Given the description of an element on the screen output the (x, y) to click on. 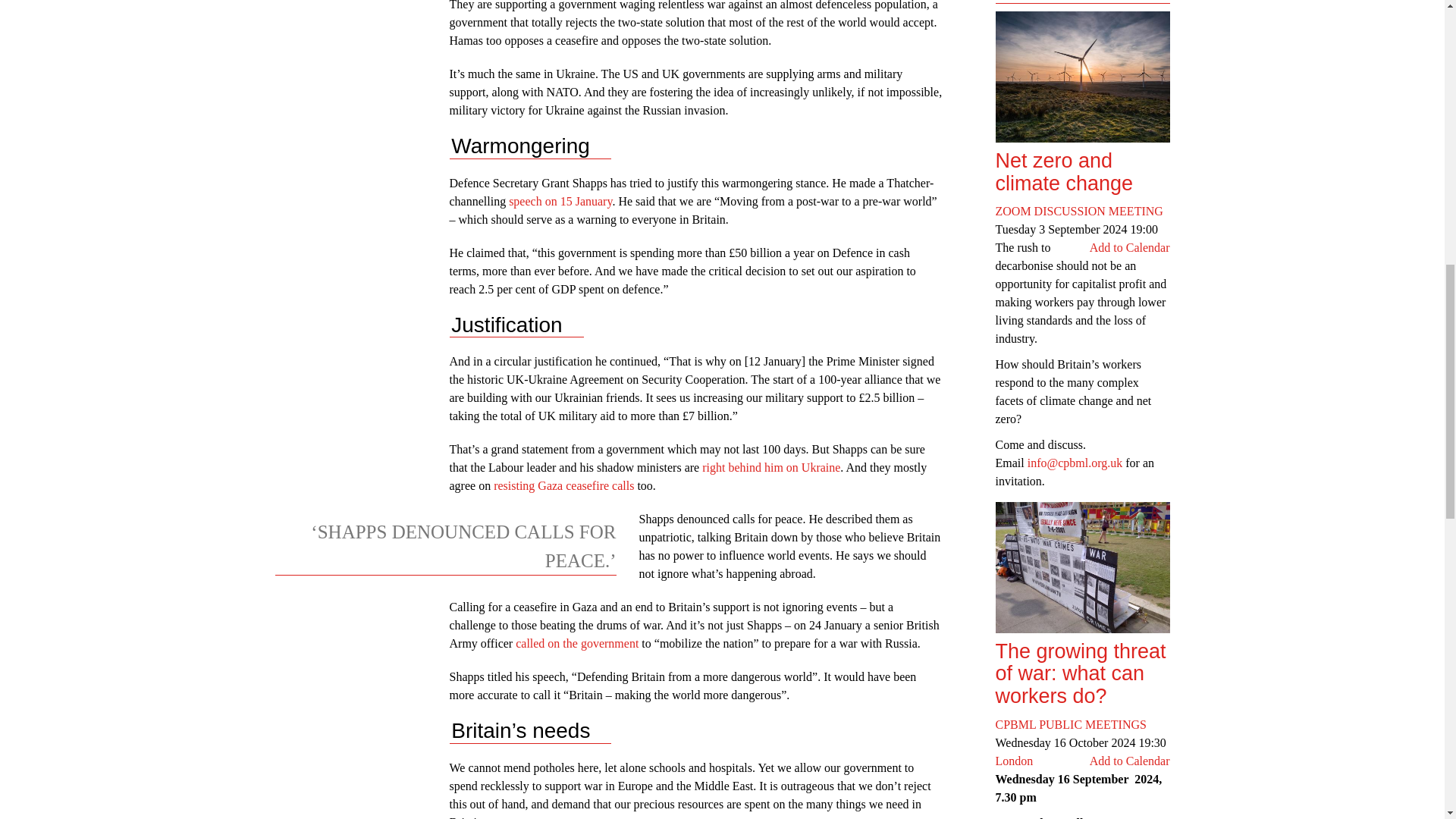
called on the government (577, 643)
right behind him on Ukraine (770, 467)
speech on 15 January (559, 201)
resisting Gaza ceasefire calls (563, 485)
